Given the description of an element on the screen output the (x, y) to click on. 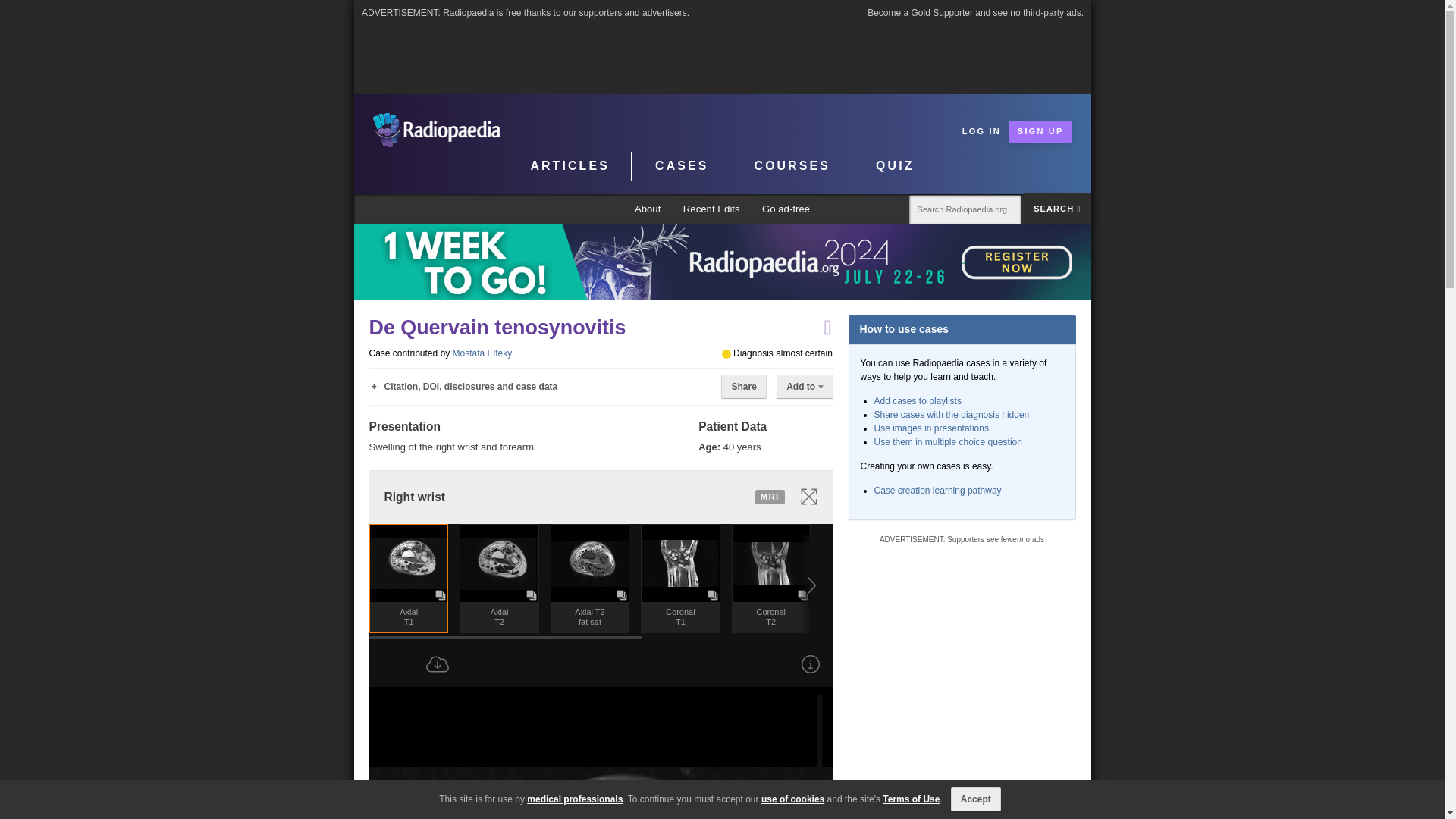
SIGN UP (1040, 131)
COURSES (791, 166)
Share Case (742, 386)
ARTICLES (569, 166)
SEARCH (1056, 208)
Recent Edits (710, 209)
Mostafa Elfeky (482, 353)
Share (742, 386)
Add to (804, 386)
Coronal T2 (770, 616)
REGISTER NOW (721, 262)
LOG IN (981, 131)
QUIZ (895, 166)
About (647, 209)
Coronal T1 (680, 616)
